Given the description of an element on the screen output the (x, y) to click on. 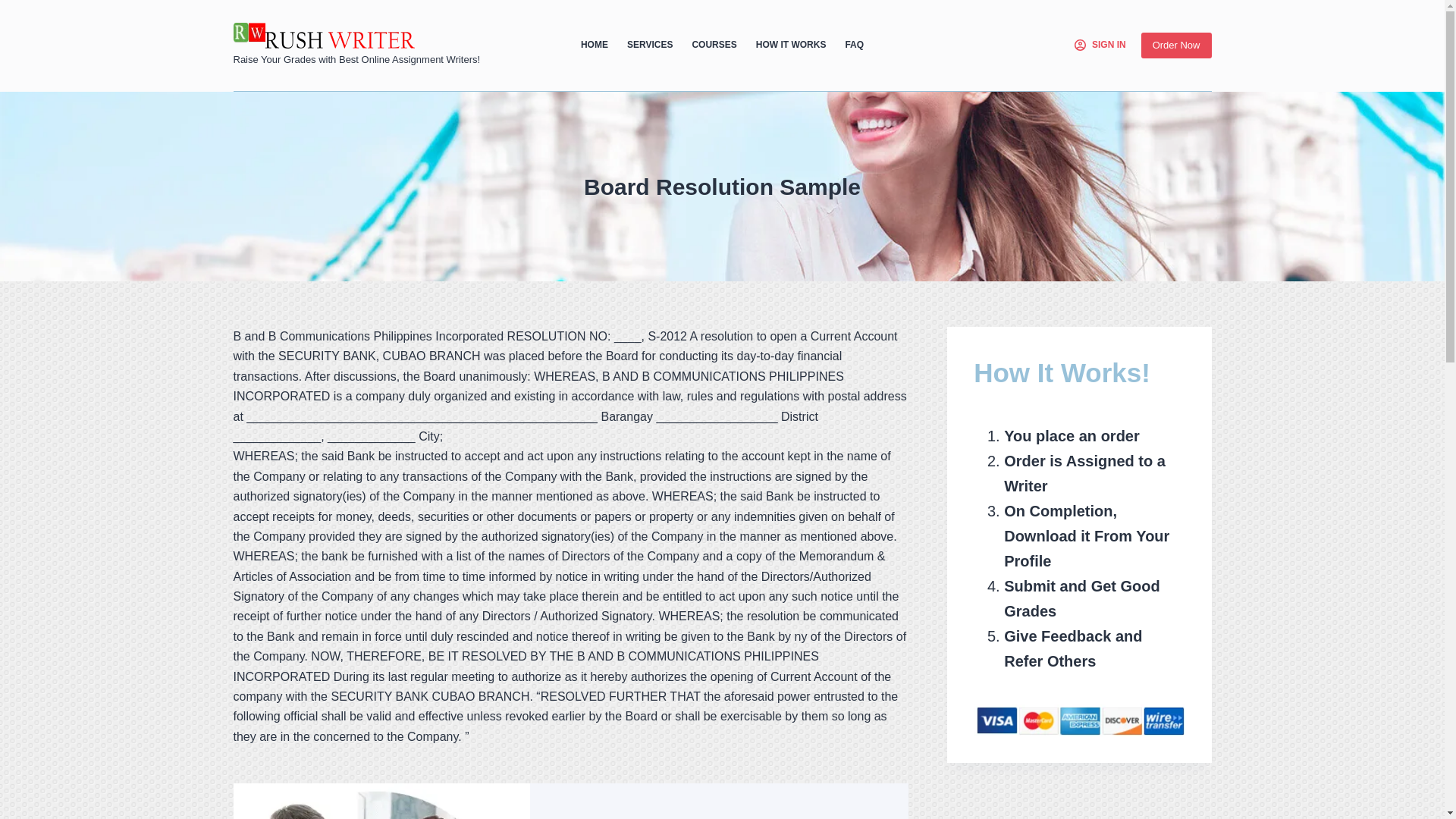
HOW IT WORKS (790, 45)
Skip to content (15, 7)
SIGN IN (1099, 45)
Board Resolution Sample (722, 186)
Order Now (1176, 45)
